Given the description of an element on the screen output the (x, y) to click on. 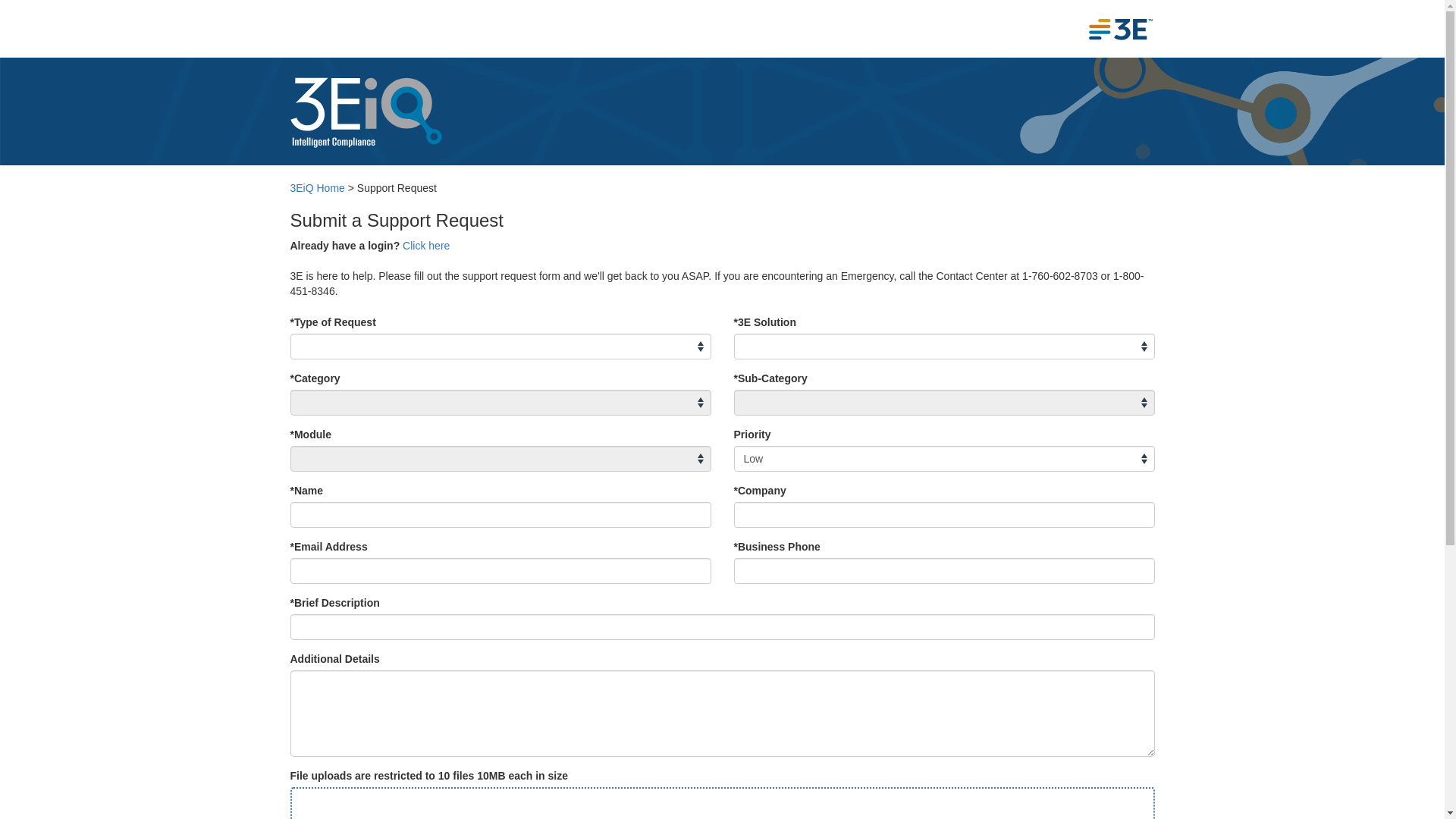
Click here Element type: text (425, 245)
3EiQ Home Element type: text (316, 188)
